Given the description of an element on the screen output the (x, y) to click on. 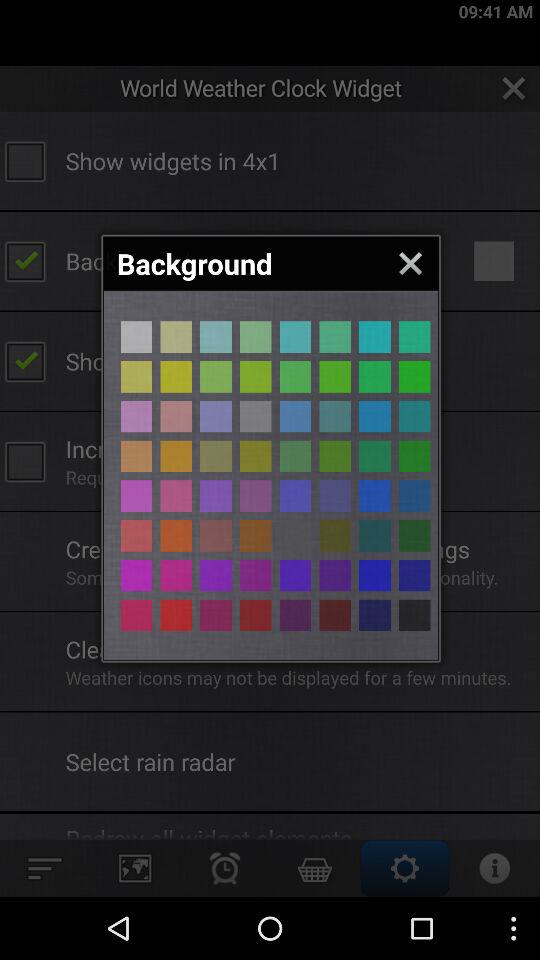
app background color picker (176, 495)
